Given the description of an element on the screen output the (x, y) to click on. 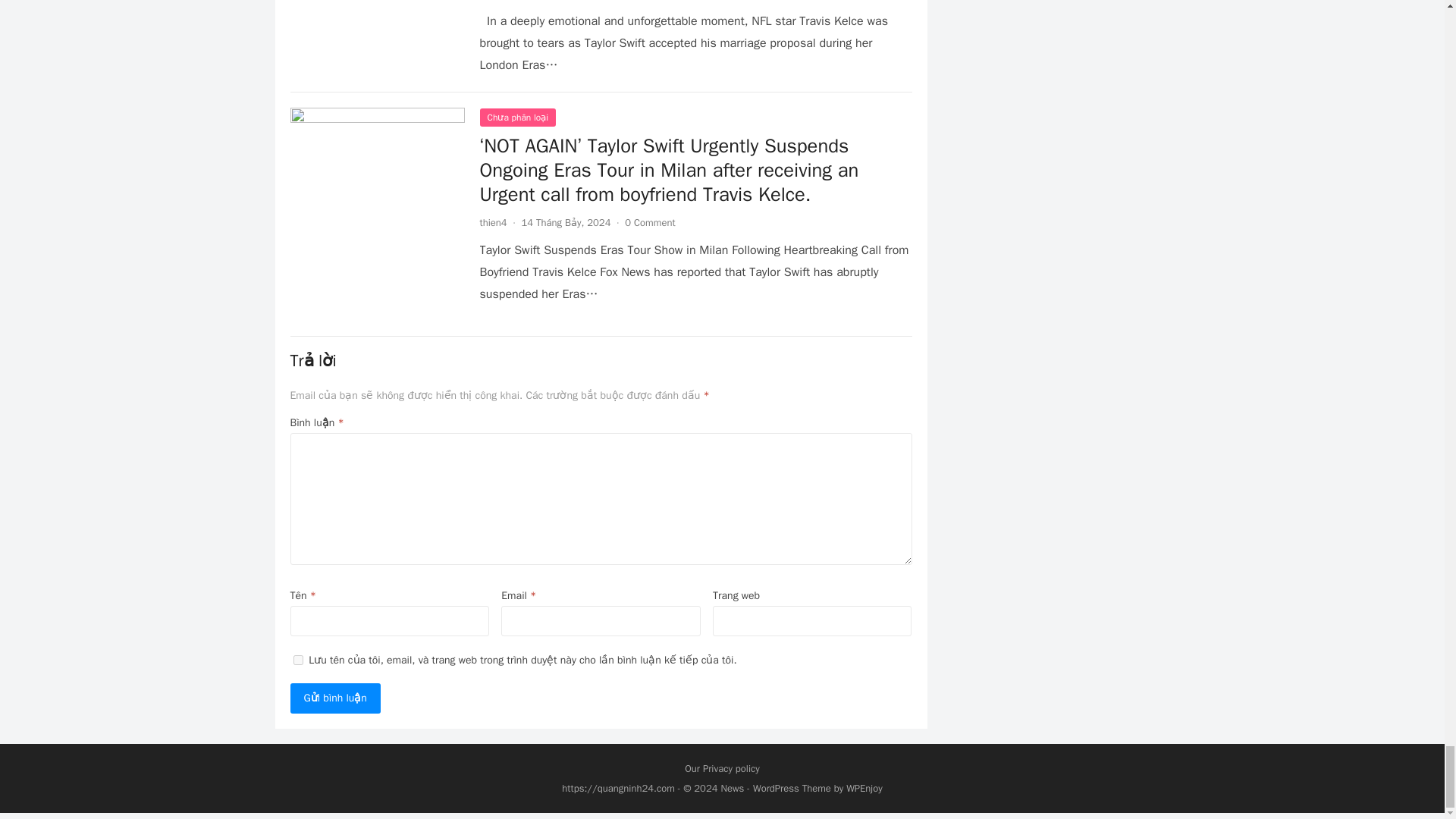
yes (297, 660)
